Given the description of an element on the screen output the (x, y) to click on. 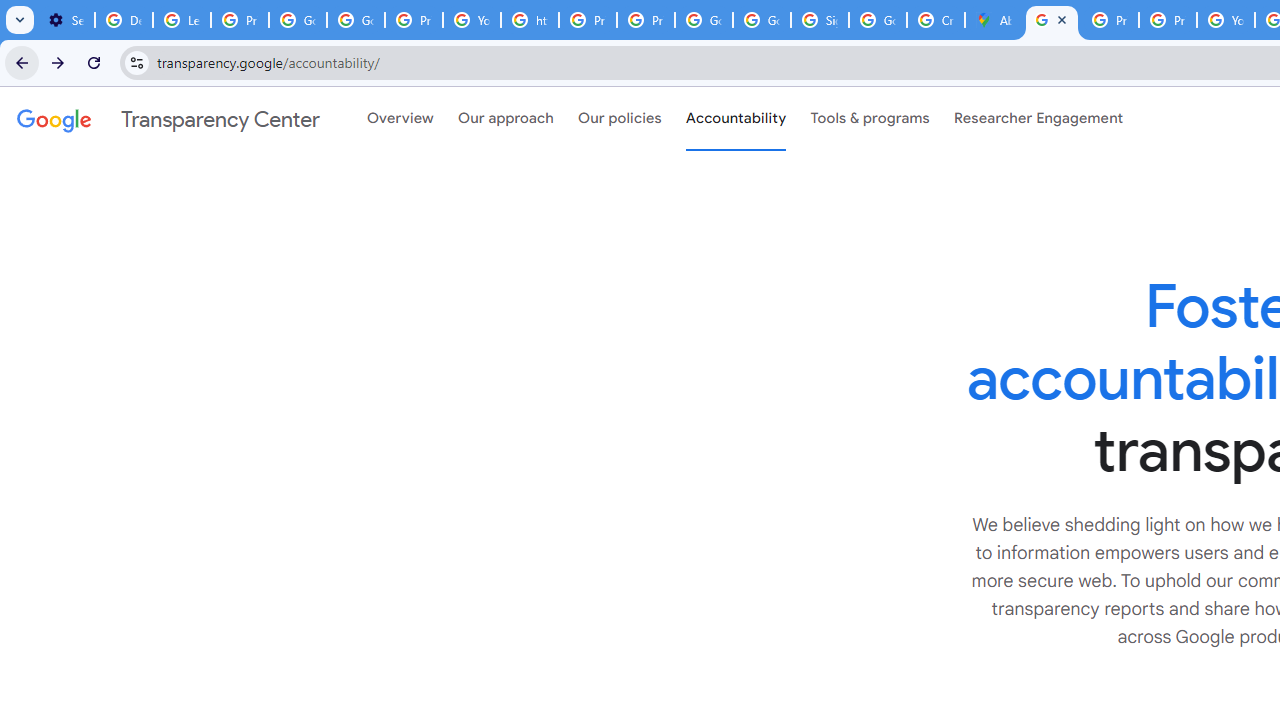
YouTube (471, 20)
Our policies (619, 119)
Google Account Help (297, 20)
